Given the description of an element on the screen output the (x, y) to click on. 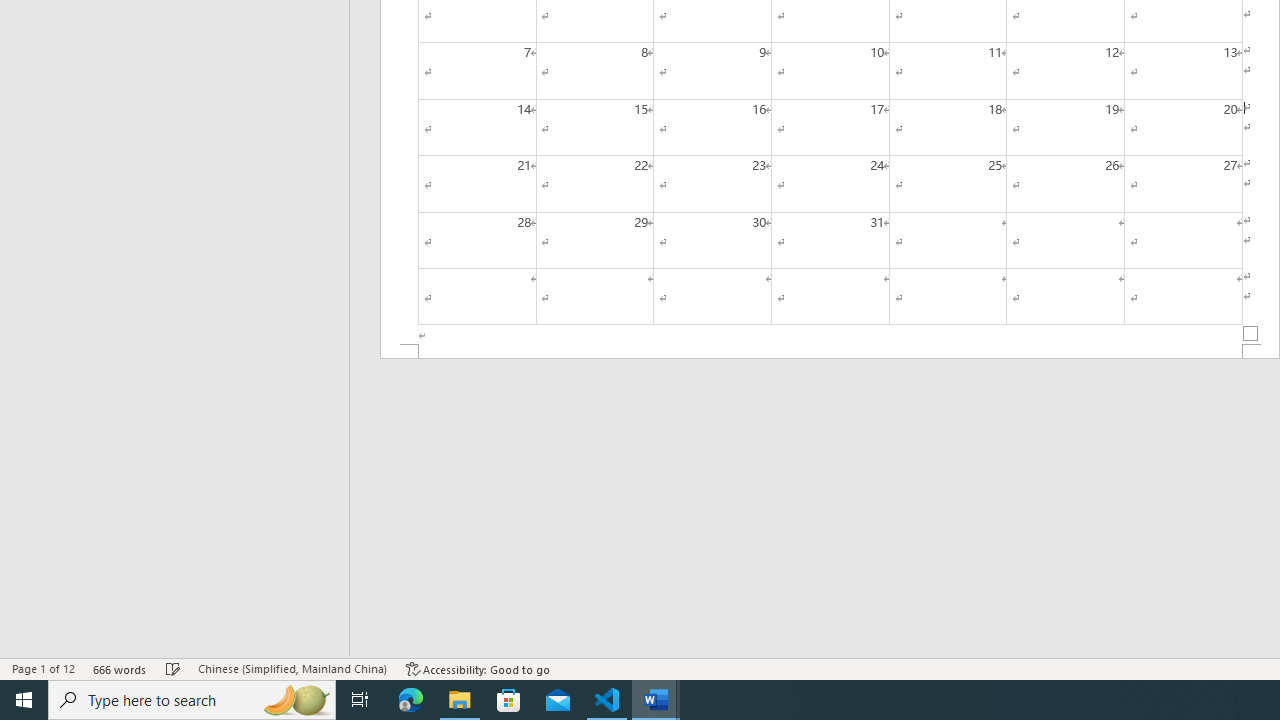
Footer -Section 1- (830, 351)
Word Count 666 words (119, 668)
Accessibility Checker Accessibility: Good to go (478, 668)
Language Chinese (Simplified, Mainland China) (292, 668)
Page Number Page 1 of 12 (43, 668)
Spelling and Grammar Check Checking (173, 668)
